Given the description of an element on the screen output the (x, y) to click on. 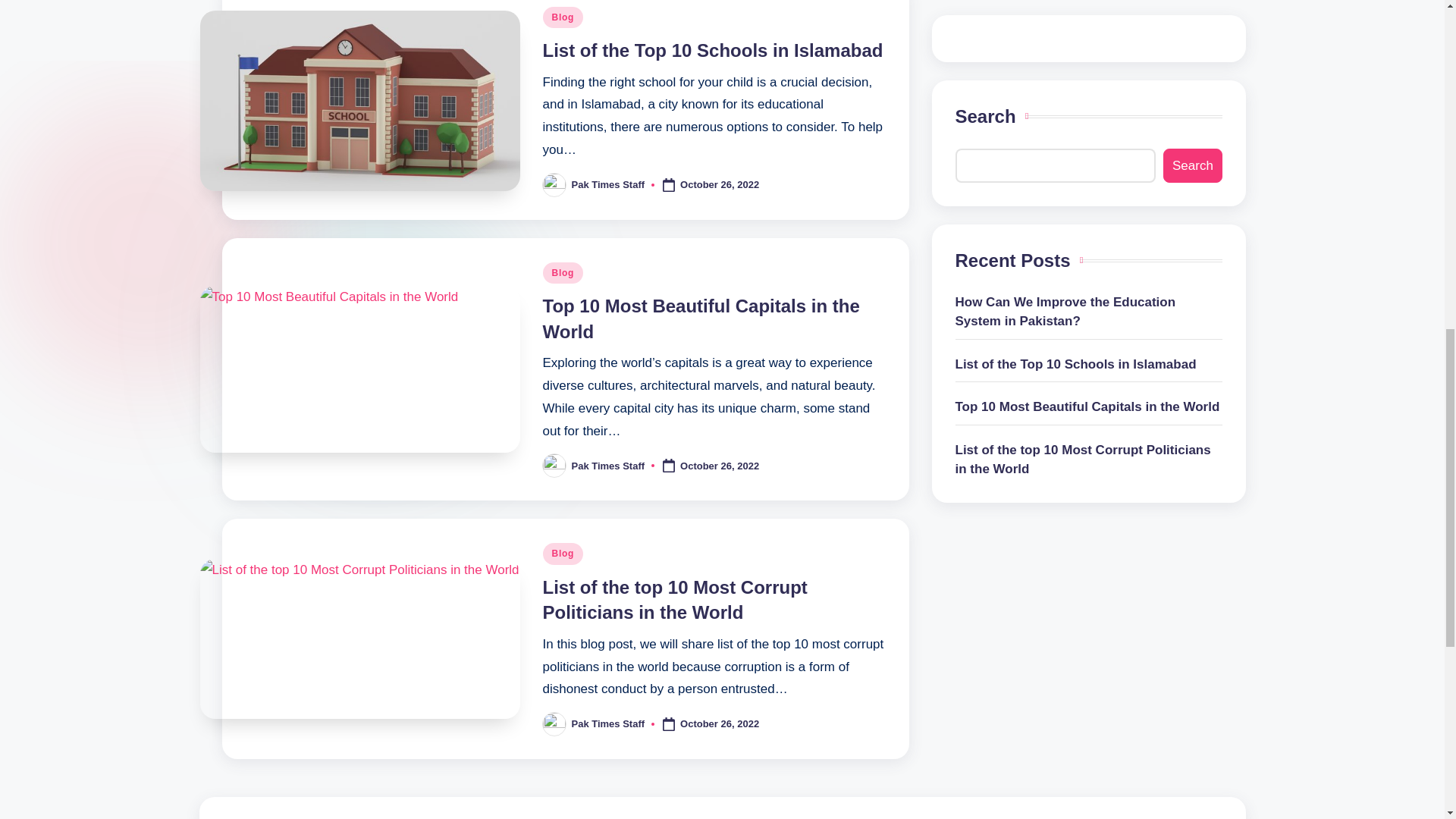
View all posts by Pak Times Staff (608, 464)
Pak Times Staff (608, 184)
Blog (563, 16)
View all posts by Pak Times Staff (608, 184)
List of the Top 10 Schools in Islamabad (713, 50)
List of the Top 10 Schools in Islamabad (713, 50)
List of the top 10 Most Corrupt Politicians in the World (675, 600)
View all posts by Pak Times Staff (608, 723)
Top 10 Most Beautiful Capitals in the World (701, 318)
